Given the description of an element on the screen output the (x, y) to click on. 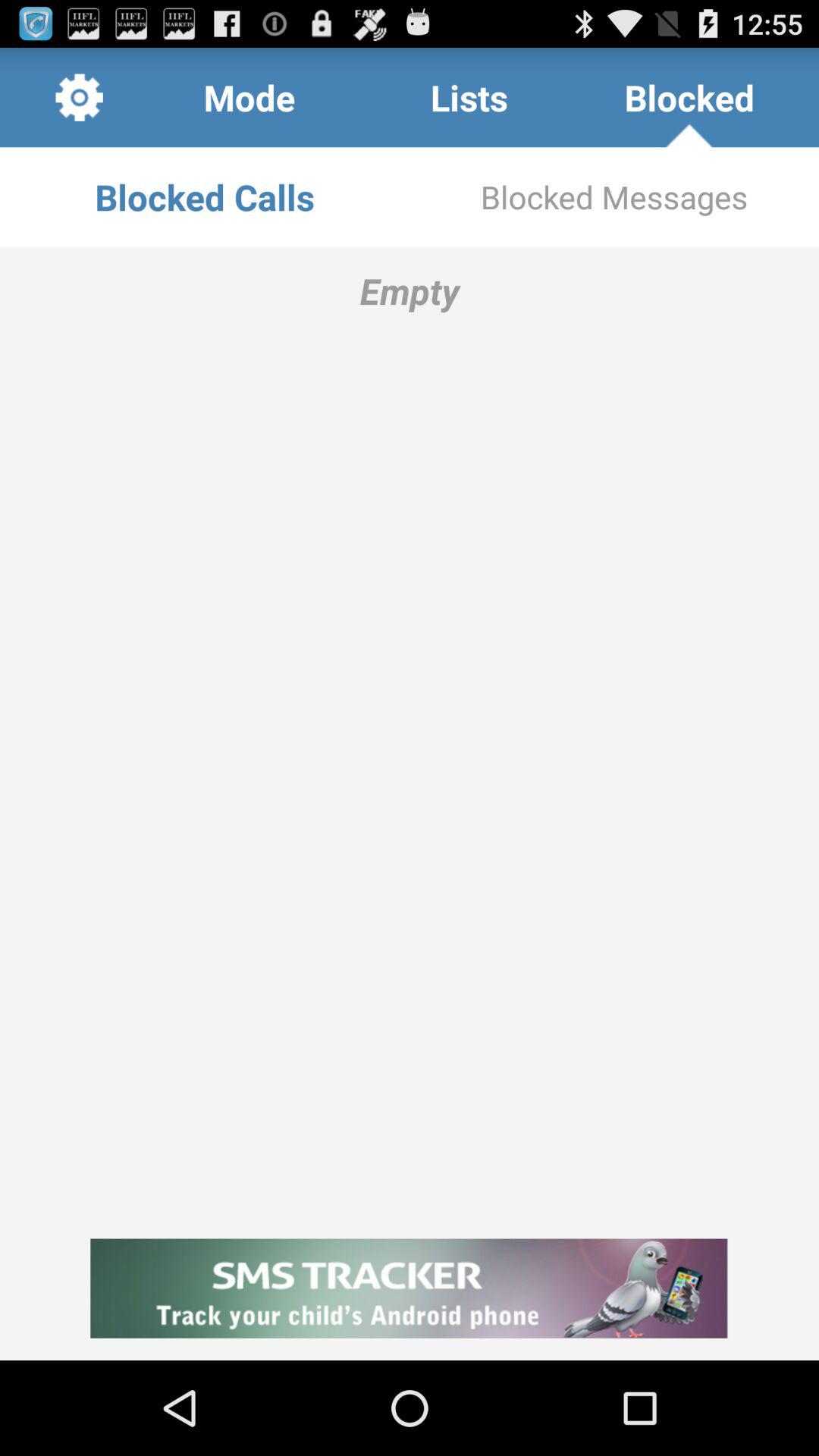
turn on the item below the blocked calls item (409, 731)
